Given the description of an element on the screen output the (x, y) to click on. 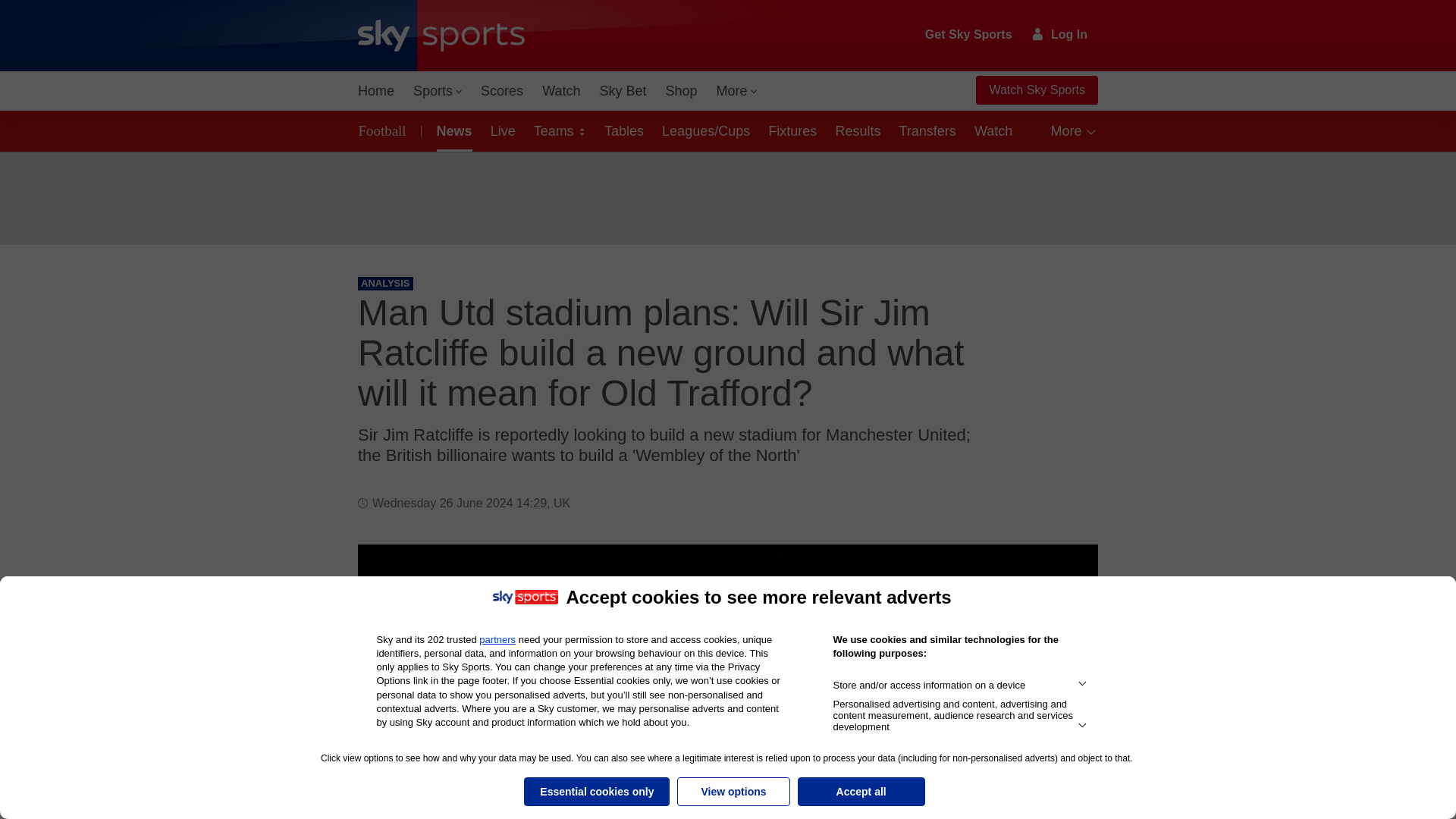
News (451, 130)
More (736, 91)
Sky Bet (622, 91)
Scores (502, 91)
Get Sky Sports (968, 34)
Share (1067, 574)
Shop (681, 91)
Watch (561, 91)
Sports (437, 91)
Football (385, 130)
Watch Sky Sports (1036, 90)
Home (375, 91)
Log In (1060, 33)
